Given the description of an element on the screen output the (x, y) to click on. 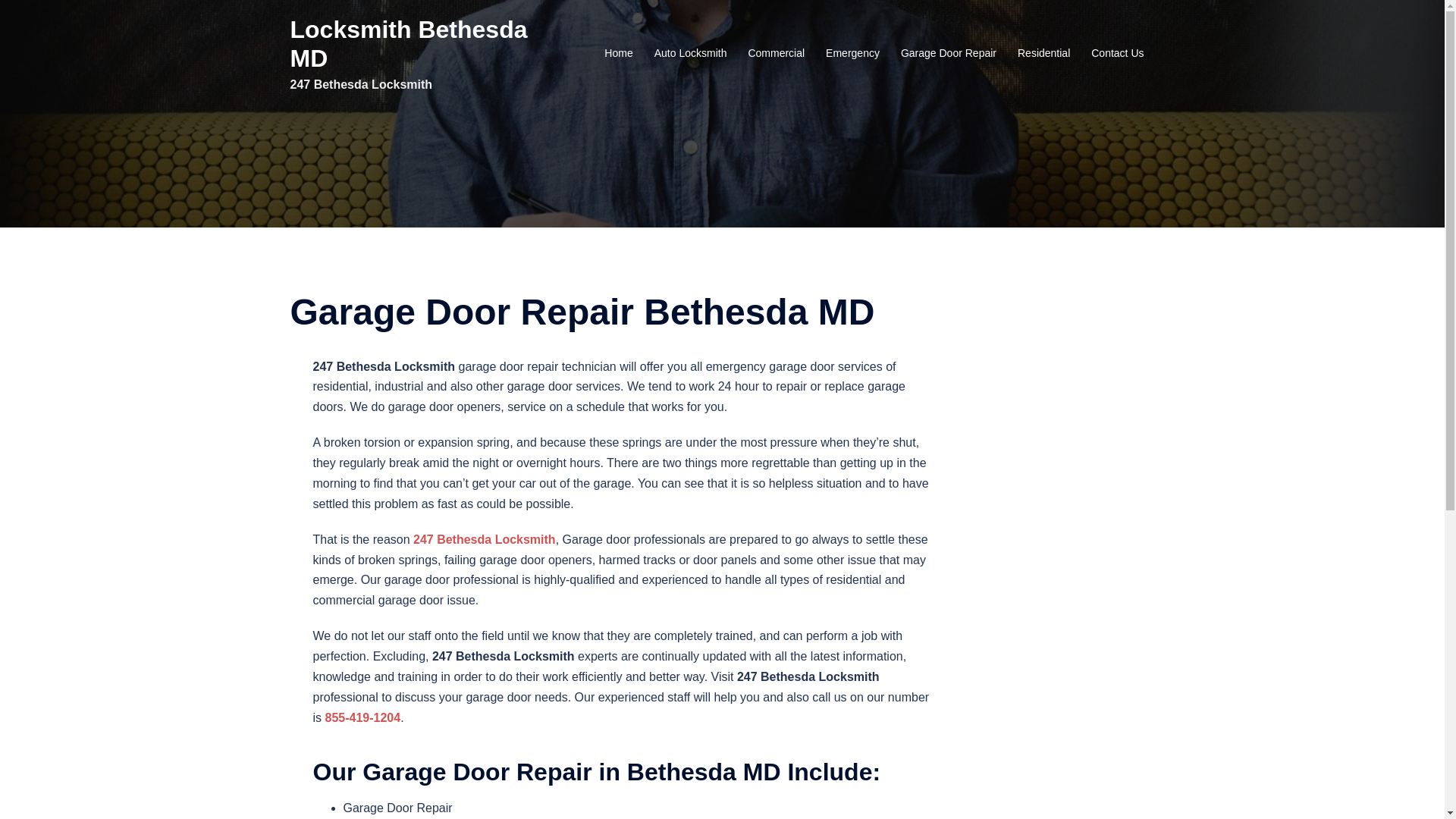
Auto Locksmith Element type: text (690, 53)
Residential Element type: text (1043, 53)
Emergency Element type: text (852, 53)
855-419-1204 Element type: text (362, 717)
Commercial Element type: text (775, 53)
Locksmith Bethesda MD Element type: text (408, 43)
Garage Door Repair Element type: text (948, 53)
Home Element type: text (618, 53)
Contact Us Element type: text (1117, 53)
247 Bethesda Locksmith Element type: text (484, 539)
